Given the description of an element on the screen output the (x, y) to click on. 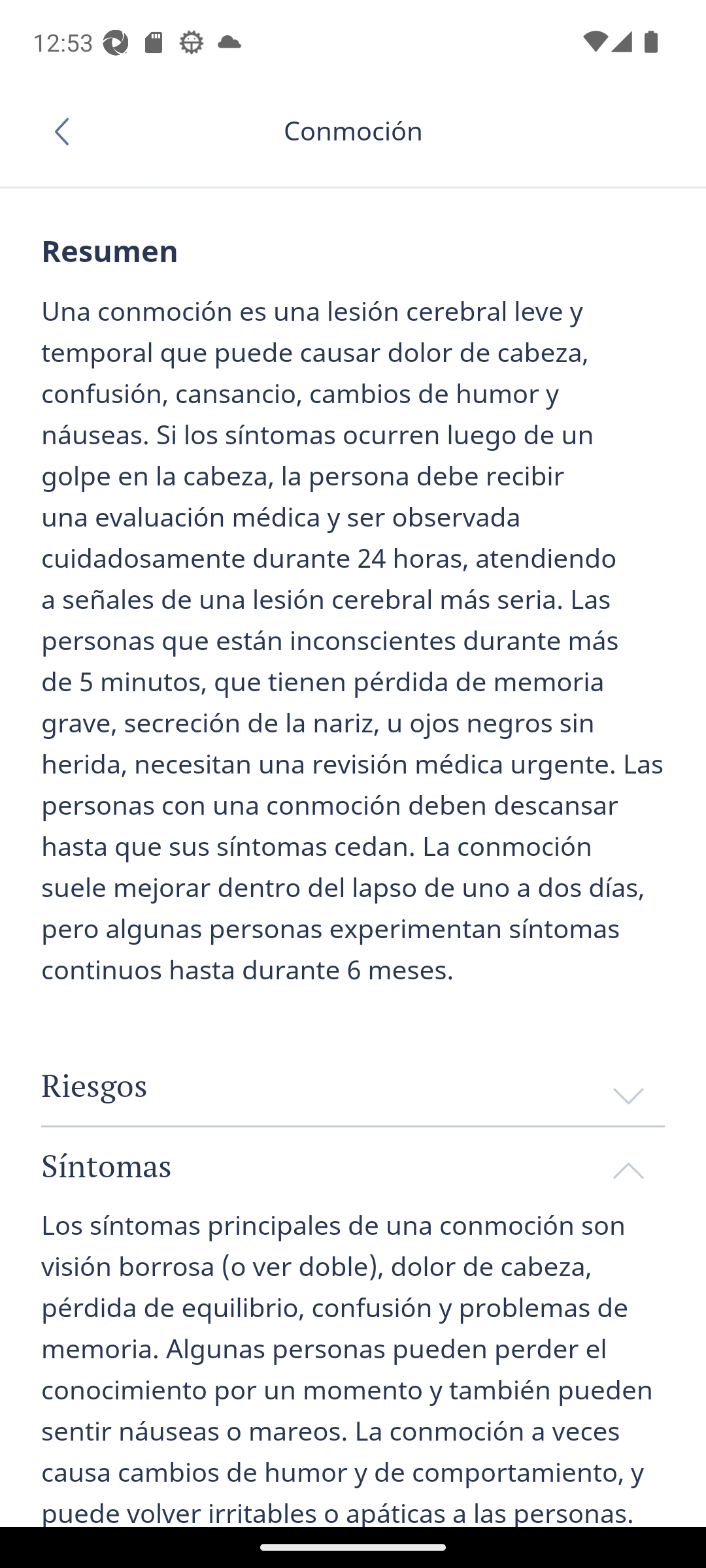
Go back, Navigates to the previous screen (68, 131)
Riesgos  (352, 1085)
Síntomas  (352, 1164)
